Given the description of an element on the screen output the (x, y) to click on. 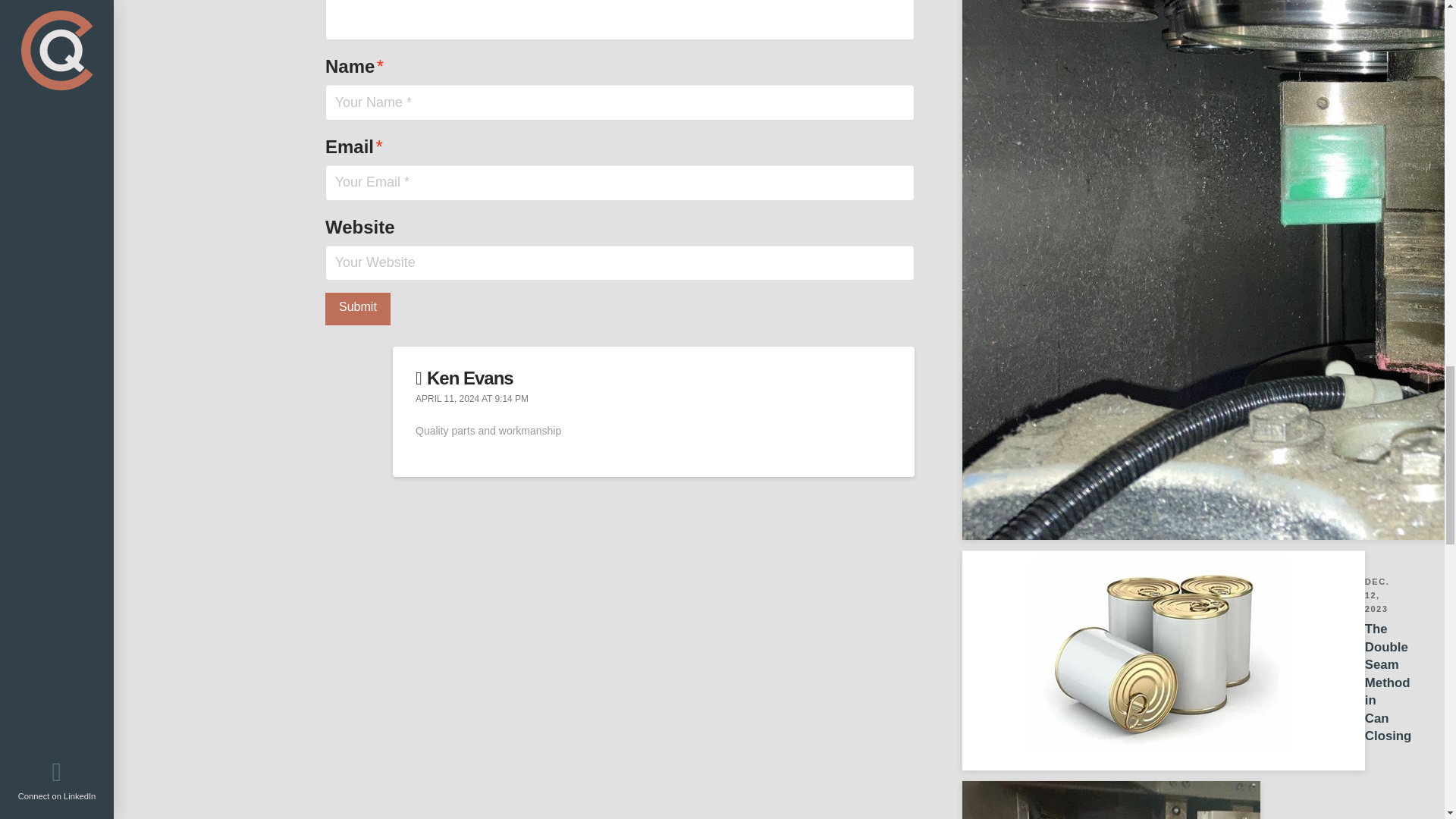
APRIL 11, 2024 AT 9:14 PM (471, 399)
Submit (1097, 660)
